Given the description of an element on the screen output the (x, y) to click on. 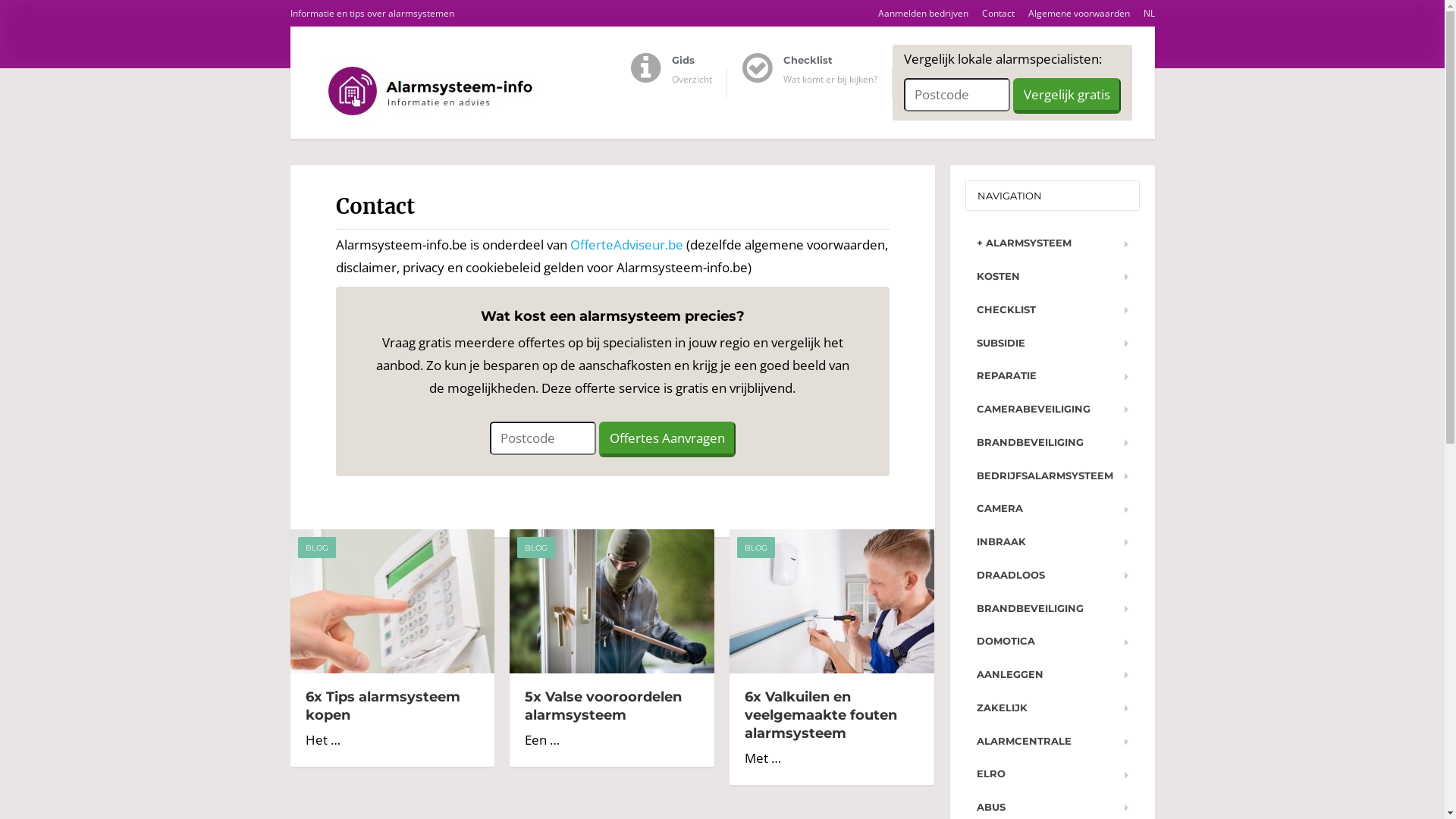
REPARATIE Element type: text (1051, 375)
CHECKLIST Element type: text (1051, 309)
CAMERABEVEILIGING Element type: text (1051, 408)
Contact Element type: text (992, 13)
BEDRIJFSALARMSYSTEEM Element type: text (1051, 475)
Algemene voorwaarden Element type: text (1072, 13)
BLOG Element type: text (316, 547)
ELRO Element type: text (1051, 773)
6x Tips alarmsysteem kopen Element type: text (381, 705)
CAMERA Element type: text (1051, 508)
DOMOTICA Element type: text (1051, 640)
BRANDBEVEILIGING Element type: text (1051, 442)
BRANDBEVEILIGING Element type: text (1051, 607)
6x Valkuilen en veelgemaakte fouten alarmsysteem Element type: text (820, 714)
Gids
Overzicht Element type: text (678, 82)
DRAADLOOS Element type: text (1051, 574)
INBRAAK Element type: text (1051, 541)
Aanmelden bedrijven Element type: text (916, 13)
OfferteAdviseur.be Element type: text (626, 244)
SUBSIDIE Element type: text (1051, 342)
BLOG Element type: text (536, 547)
Checklist
Wat komt er bij kijken? Element type: text (816, 82)
Vergelijk gratis Element type: text (1066, 95)
NL Element type: text (1142, 13)
5x Valse vooroordelen alarmsysteem Element type: text (602, 705)
KOSTEN Element type: text (1051, 276)
ZAKELIJK Element type: text (1051, 707)
Offertes Aanvragen Element type: text (667, 439)
+ ALARMSYSTEEM Element type: text (1051, 242)
ALARMCENTRALE Element type: text (1051, 740)
AANLEGGEN Element type: text (1051, 674)
BLOG Element type: text (756, 547)
